Given the description of an element on the screen output the (x, y) to click on. 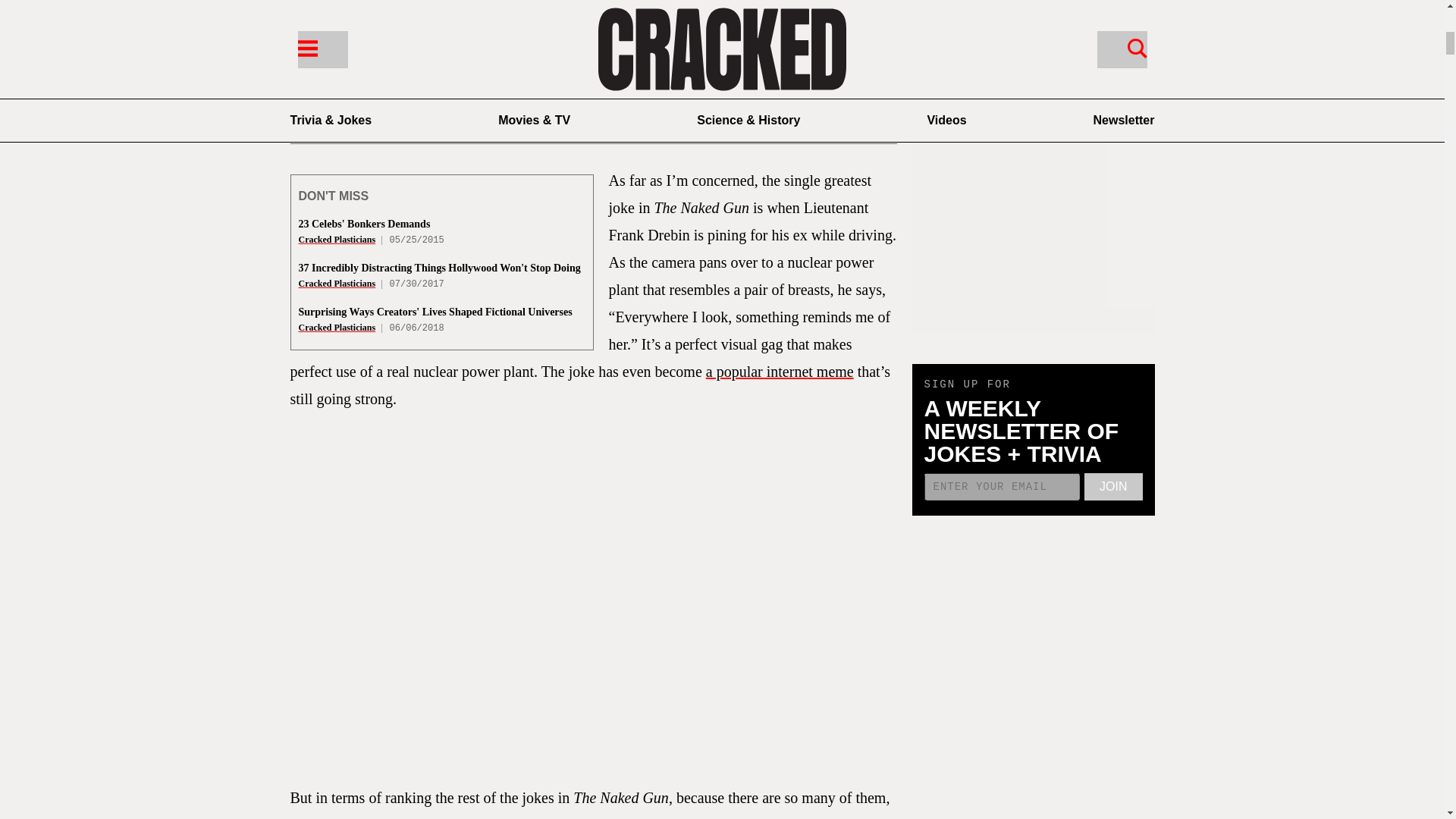
Cracked Plasticians (336, 283)
Cracked Plasticians (336, 327)
37 Incredibly Distracting Things Hollywood Won't Stop Doing (439, 267)
Cracked Plasticians (336, 239)
23 Celebs' Bonkers Demands (364, 224)
Surprising Ways Creators' Lives Shaped Fictional Universes (435, 311)
Brian VanHooker (387, 112)
